Given the description of an element on the screen output the (x, y) to click on. 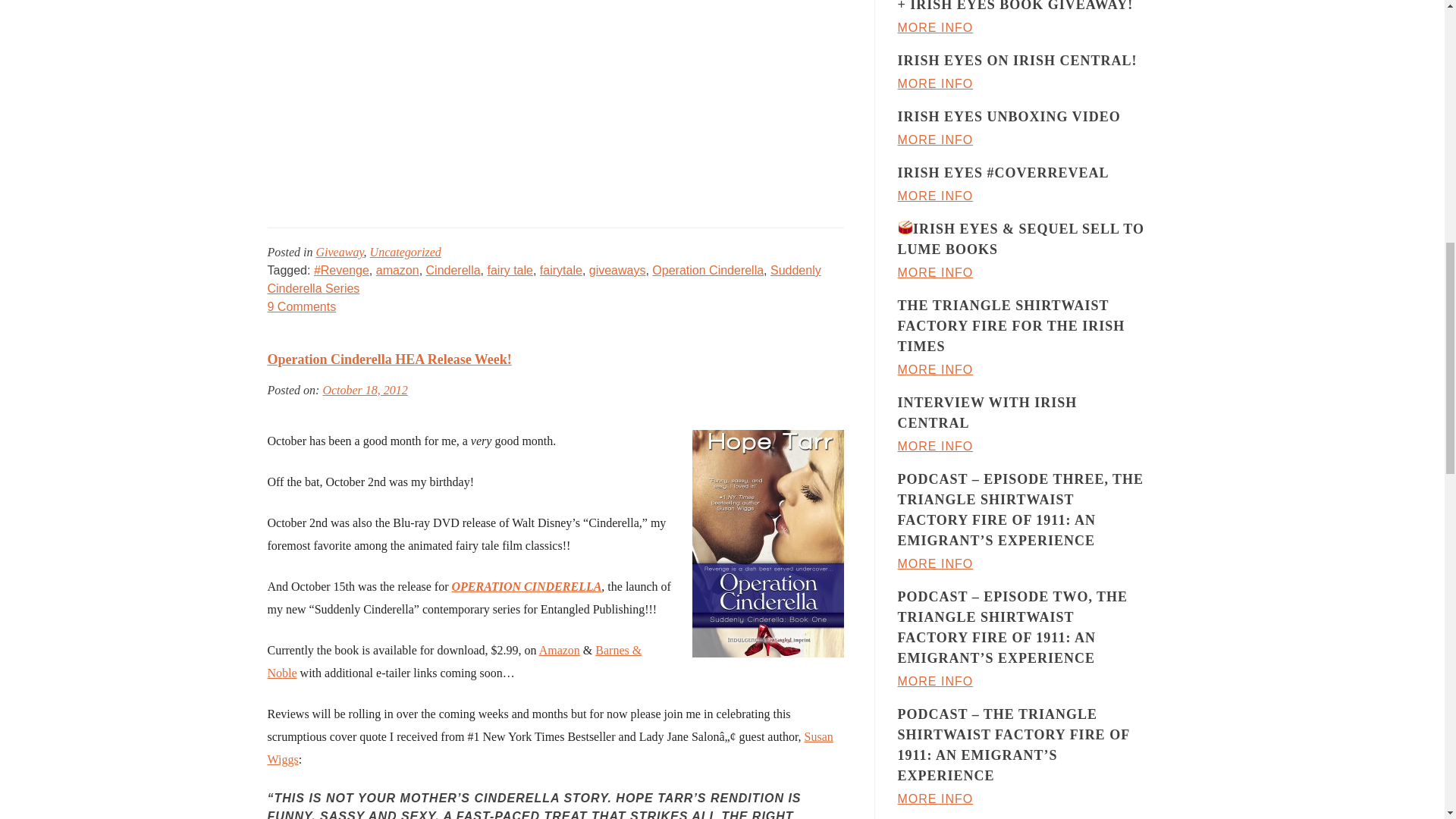
Suddenly Cinderella Series (543, 278)
Susan Wiggs (549, 747)
giveaways (617, 269)
fairytale (561, 269)
Amazon (558, 649)
Cinderella (453, 269)
amazon (397, 269)
OPERATION CINDERELLA (526, 585)
October 18, 2012 (364, 390)
Giveaway (338, 251)
fairy tale (509, 269)
Uncategorized (405, 251)
Operation Cinderella (707, 269)
Operation Cinderella HEA Release Week! (301, 306)
